Given the description of an element on the screen output the (x, y) to click on. 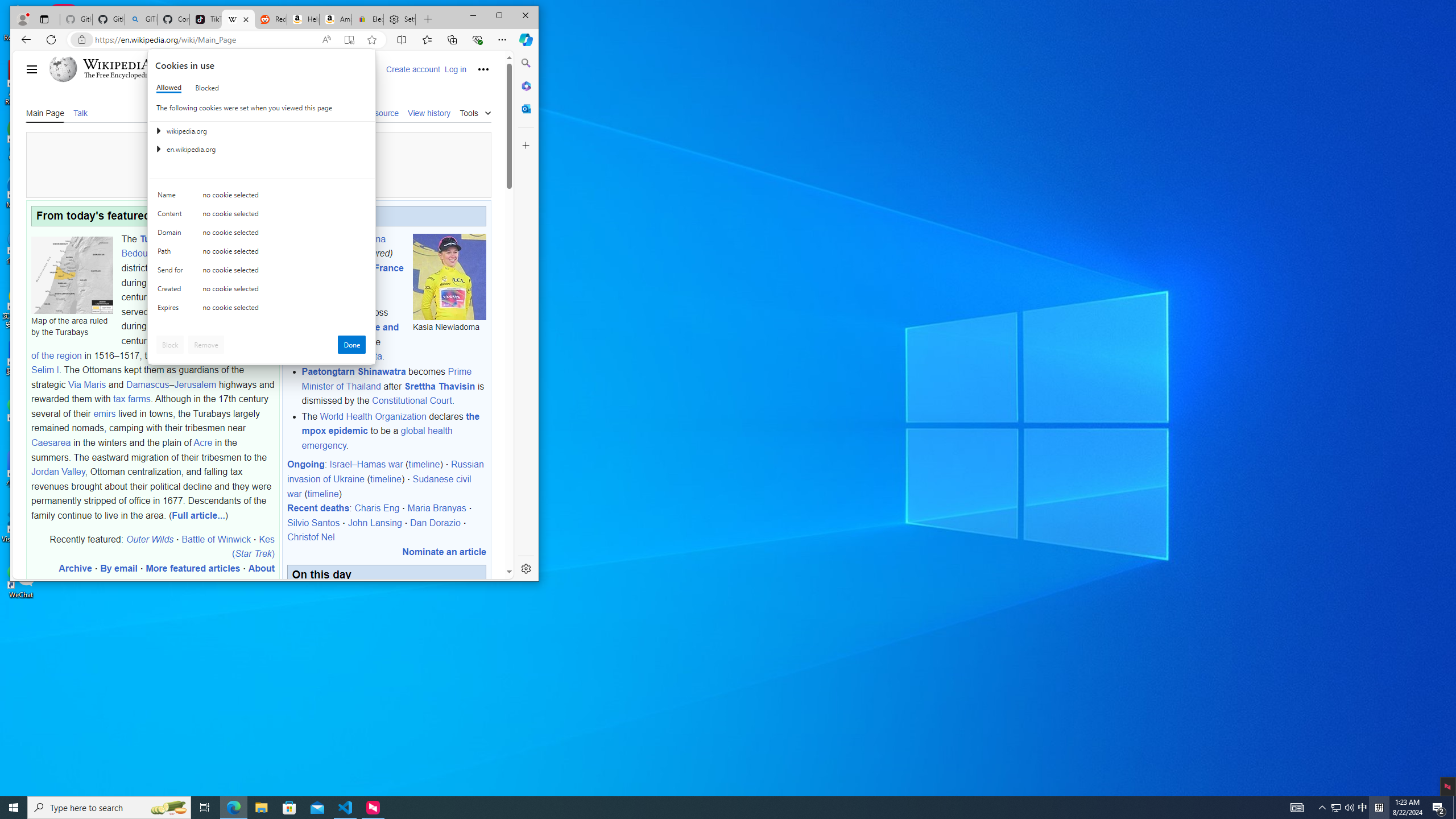
Start (13, 807)
Task View (204, 807)
Microsoft Edge - 1 running window (1335, 807)
Send for (233, 807)
Blocked (172, 272)
Type here to search (206, 87)
Allowed (108, 807)
Q2790: 100% (169, 87)
Class: c0153 c0157 c0154 (1349, 807)
Notification Chevron (261, 197)
Name (1322, 807)
Show desktop (172, 197)
